Given the description of an element on the screen output the (x, y) to click on. 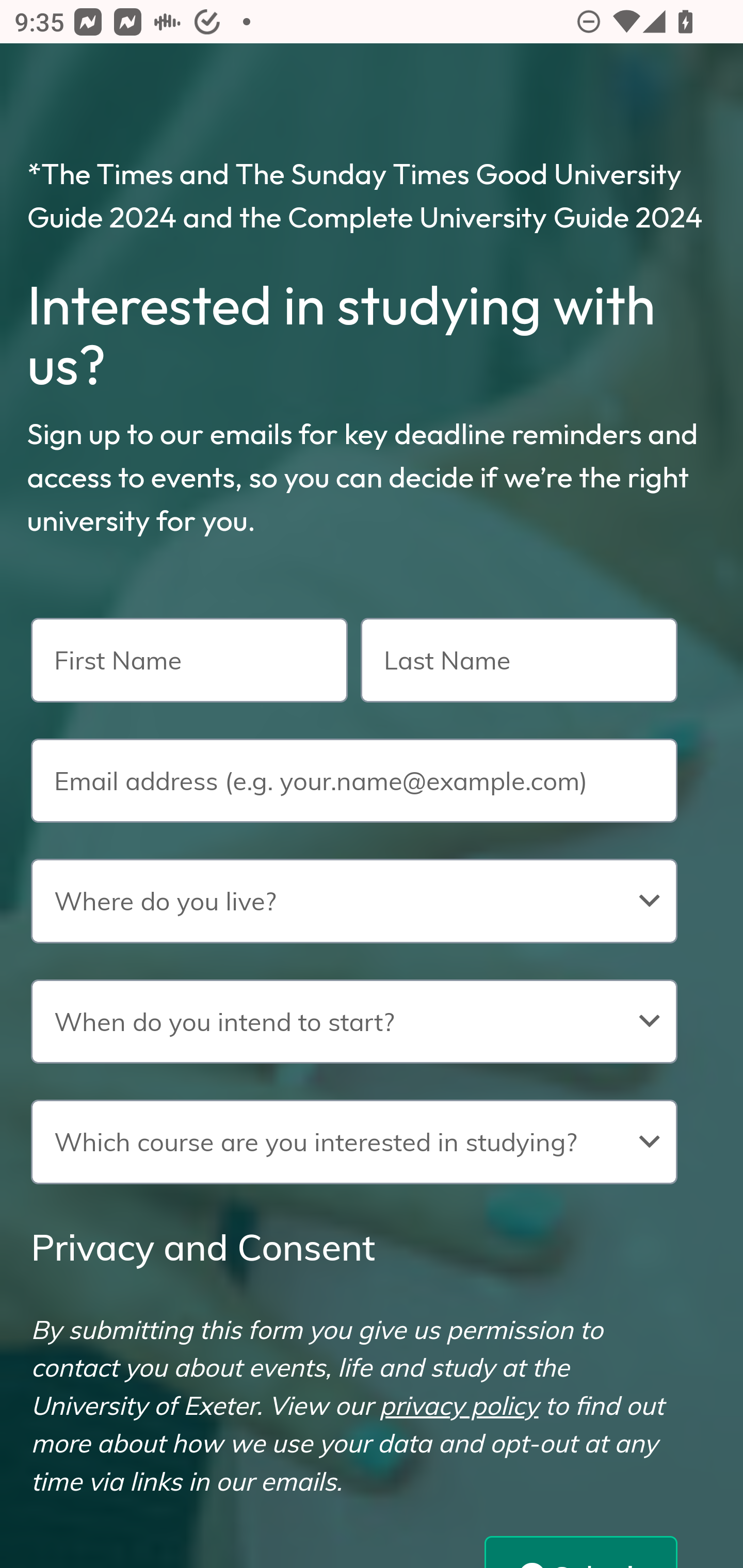
Where do you live? (353, 900)
When do you intend to start? (353, 1021)
Which course are you interested in studying? (353, 1141)
Link privacy policy privacy policy (458, 1404)
